Given the description of an element on the screen output the (x, y) to click on. 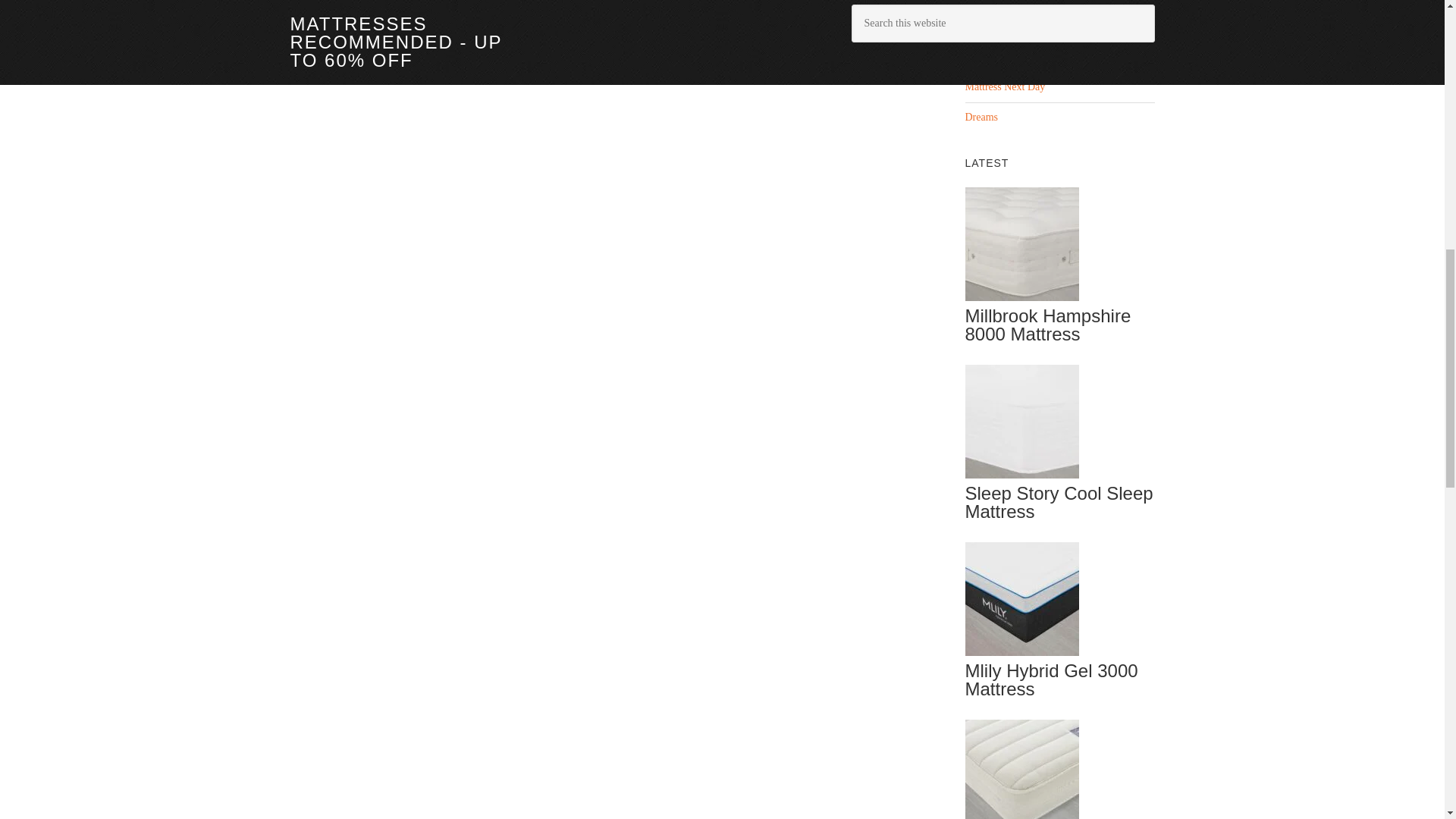
Millbrook Hampshire 8000 Mattress (1047, 324)
Mattress Next Day (1004, 86)
Mlily Hybrid Gel 3000 Mattress (1050, 679)
Sleep Story Cool Sleep Mattress (1058, 502)
Bensons for Beds (1001, 26)
Dreams (980, 116)
Mattress Online (997, 56)
